Given the description of an element on the screen output the (x, y) to click on. 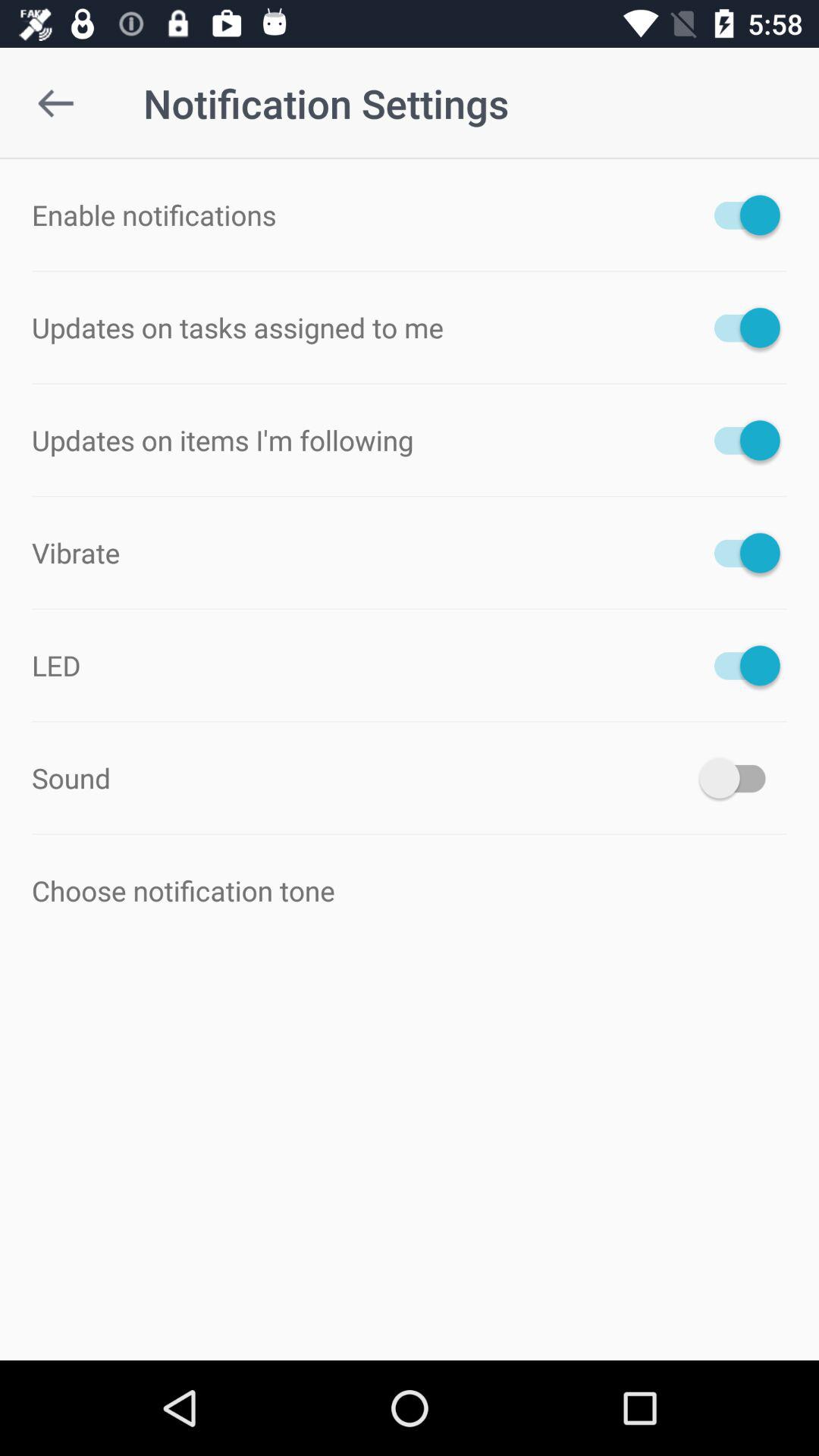
reminder for the items i am subscribed to (739, 439)
